Given the description of an element on the screen output the (x, y) to click on. 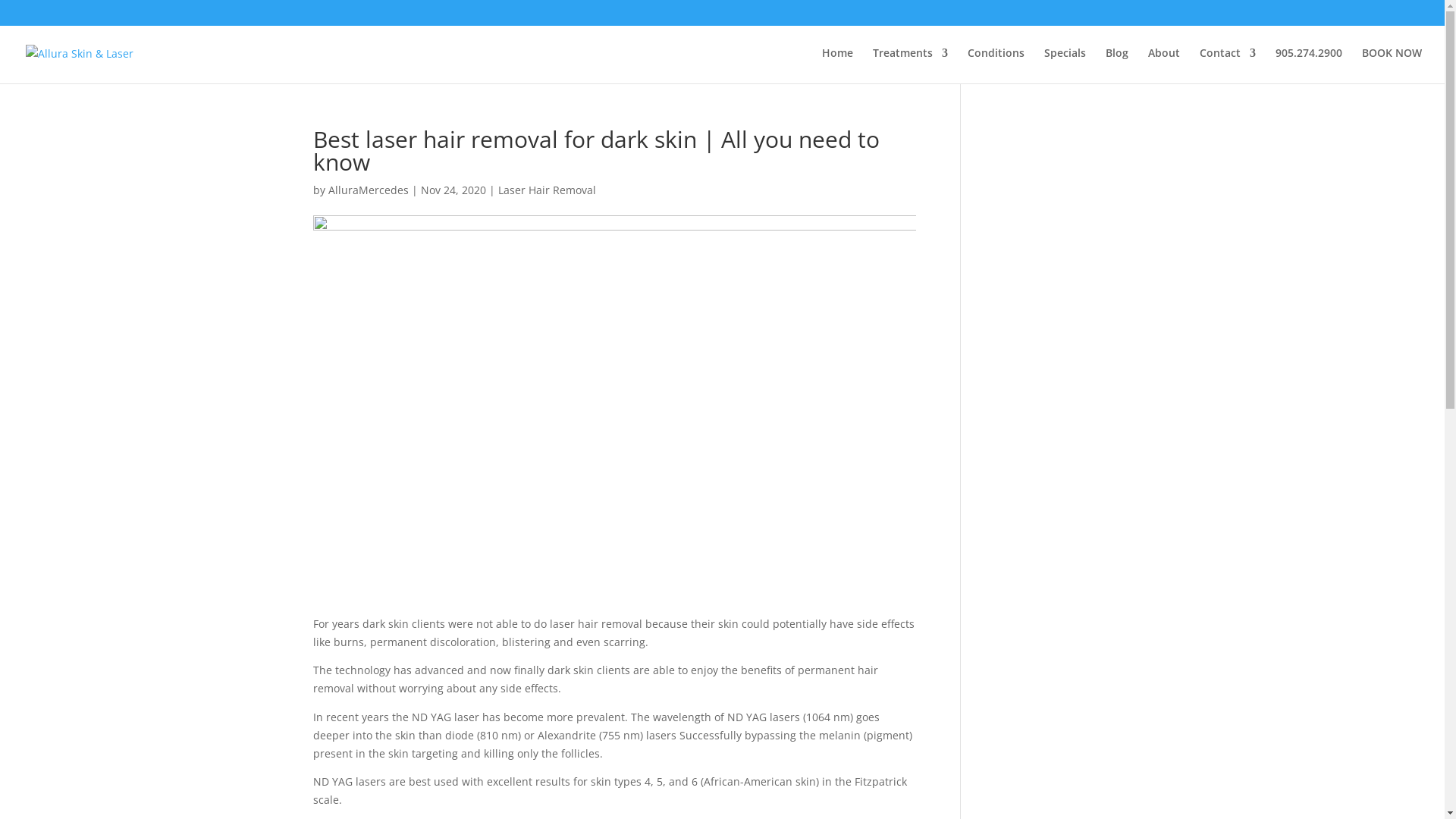
905.274.2900 Element type: text (1308, 65)
Blog Element type: text (1116, 65)
Treatments Element type: text (909, 65)
Home Element type: text (837, 65)
Laser Hair Removal Element type: text (546, 189)
About Element type: text (1163, 65)
Contact Element type: text (1227, 65)
Specials Element type: text (1064, 65)
BOOK NOW Element type: text (1391, 65)
Conditions Element type: text (995, 65)
AlluraMercedes Element type: text (367, 189)
